Given the description of an element on the screen output the (x, y) to click on. 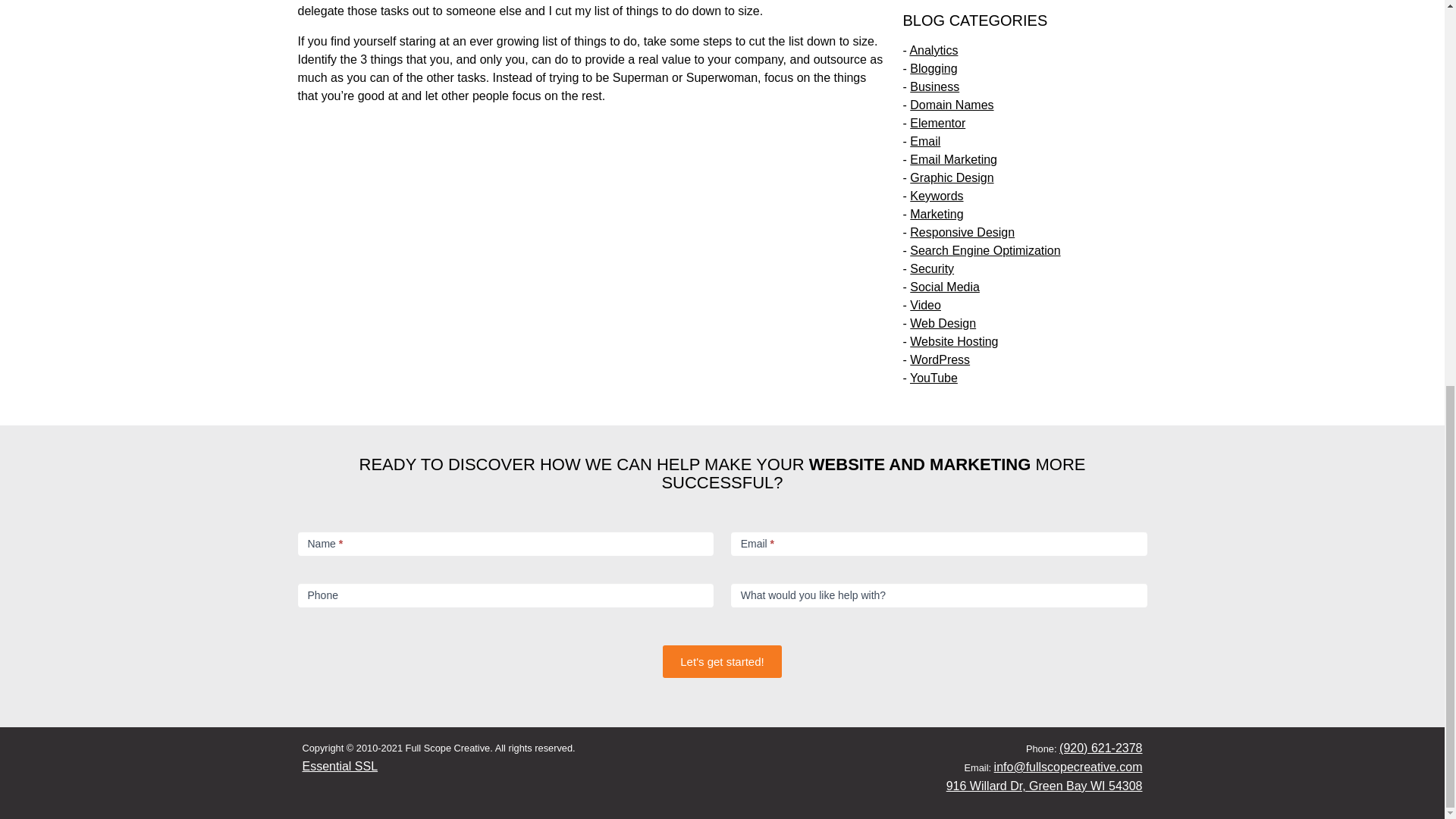
Email Marketing (953, 159)
Elementor (937, 123)
Blogging (933, 68)
Keywords (936, 195)
Marketing (936, 214)
Business (934, 86)
Analytics (933, 50)
Graphic Design (951, 177)
Email (925, 141)
Domain Names (951, 104)
